Given the description of an element on the screen output the (x, y) to click on. 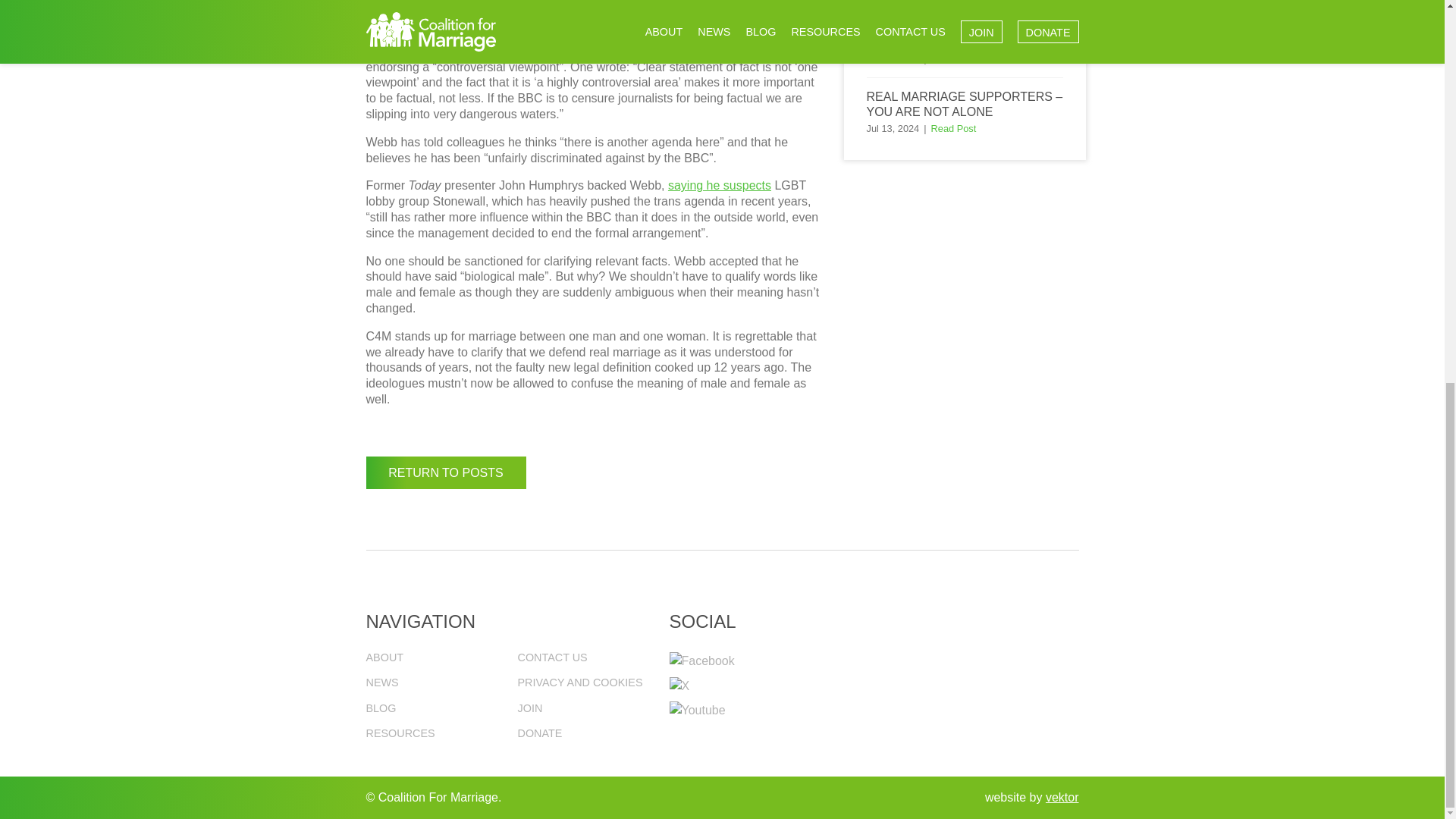
saying he suspects (719, 185)
Read Post (953, 58)
RETURN TO POSTS (445, 472)
Read Post (953, 128)
